Given the description of an element on the screen output the (x, y) to click on. 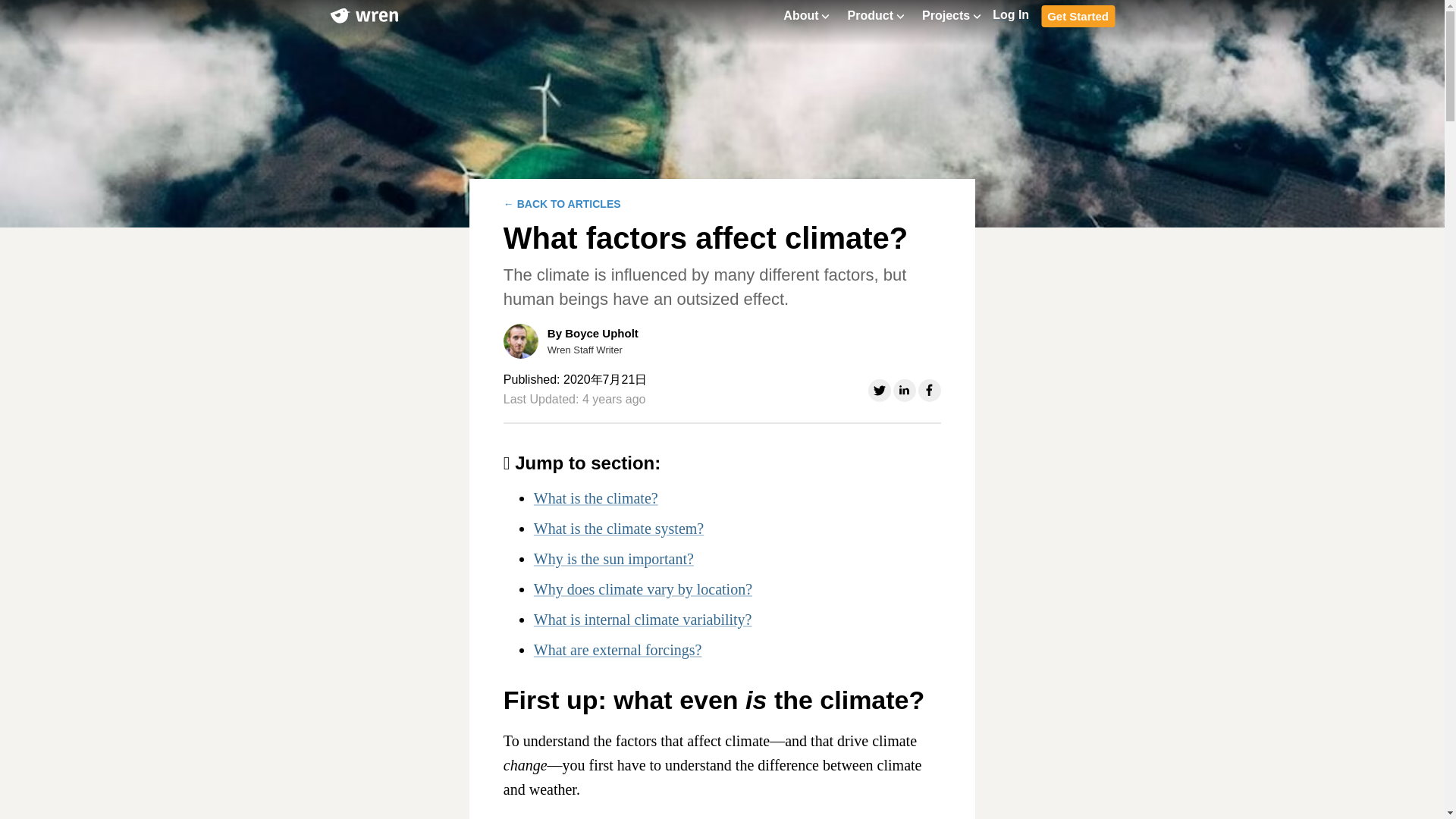
Log In (1011, 15)
Projects (951, 15)
Why is the sun important? (614, 558)
Why does climate vary by location? (643, 588)
What is the climate system? (618, 528)
What is the climate? (596, 497)
What are external forcings? (617, 649)
Get Started (1078, 15)
What is internal climate variability? (643, 619)
